Given the description of an element on the screen output the (x, y) to click on. 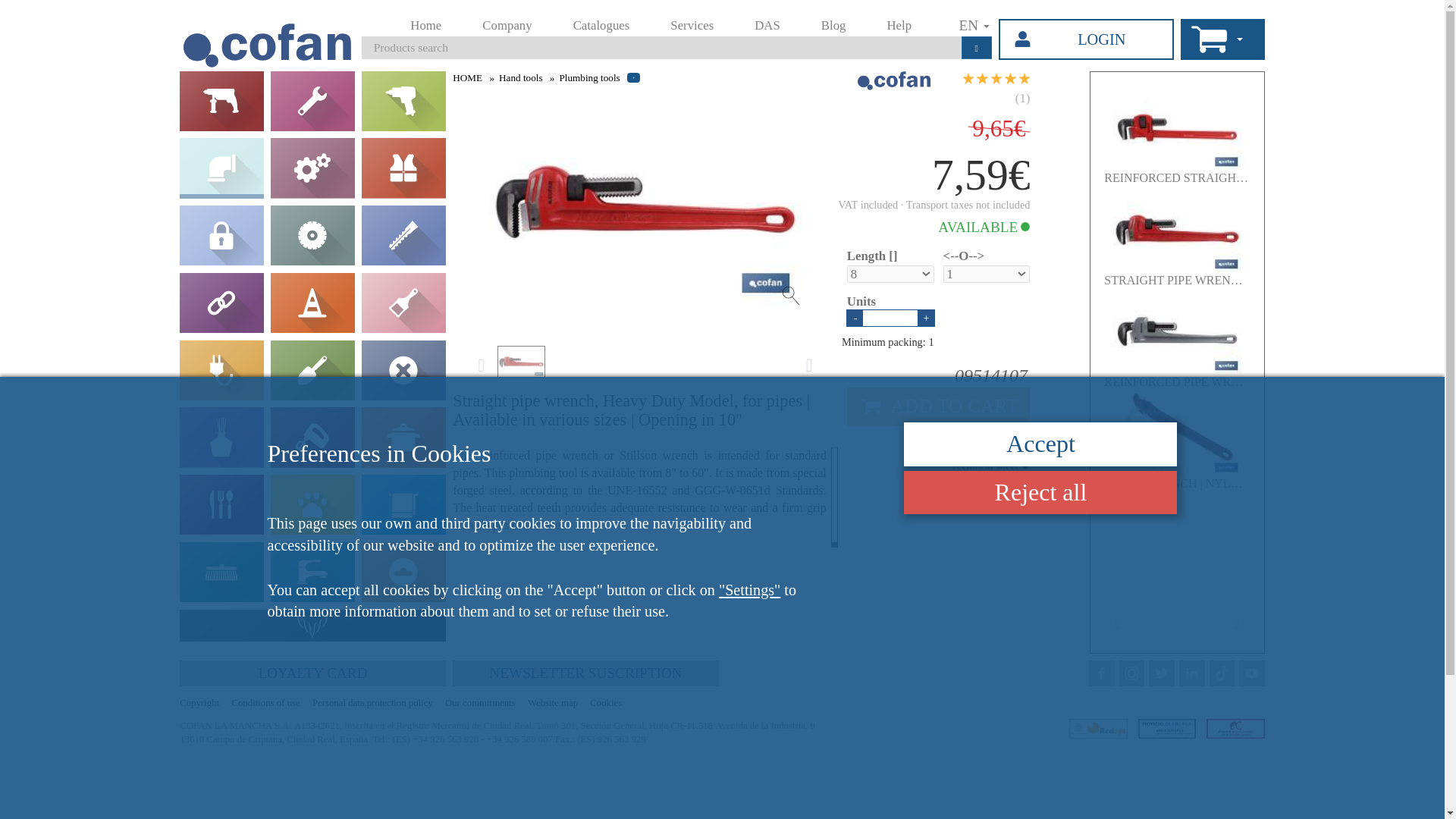
LOGIN (905, 32)
Home (354, 15)
Help (749, 15)
Fixing products (336, 196)
Min. 4 characters (551, 39)
COFAN (222, 29)
EQUIPMENT (184, 84)
LOSCKSMITH PRODUCTS (184, 196)
Blog (694, 15)
Safety material (336, 140)
